Given the description of an element on the screen output the (x, y) to click on. 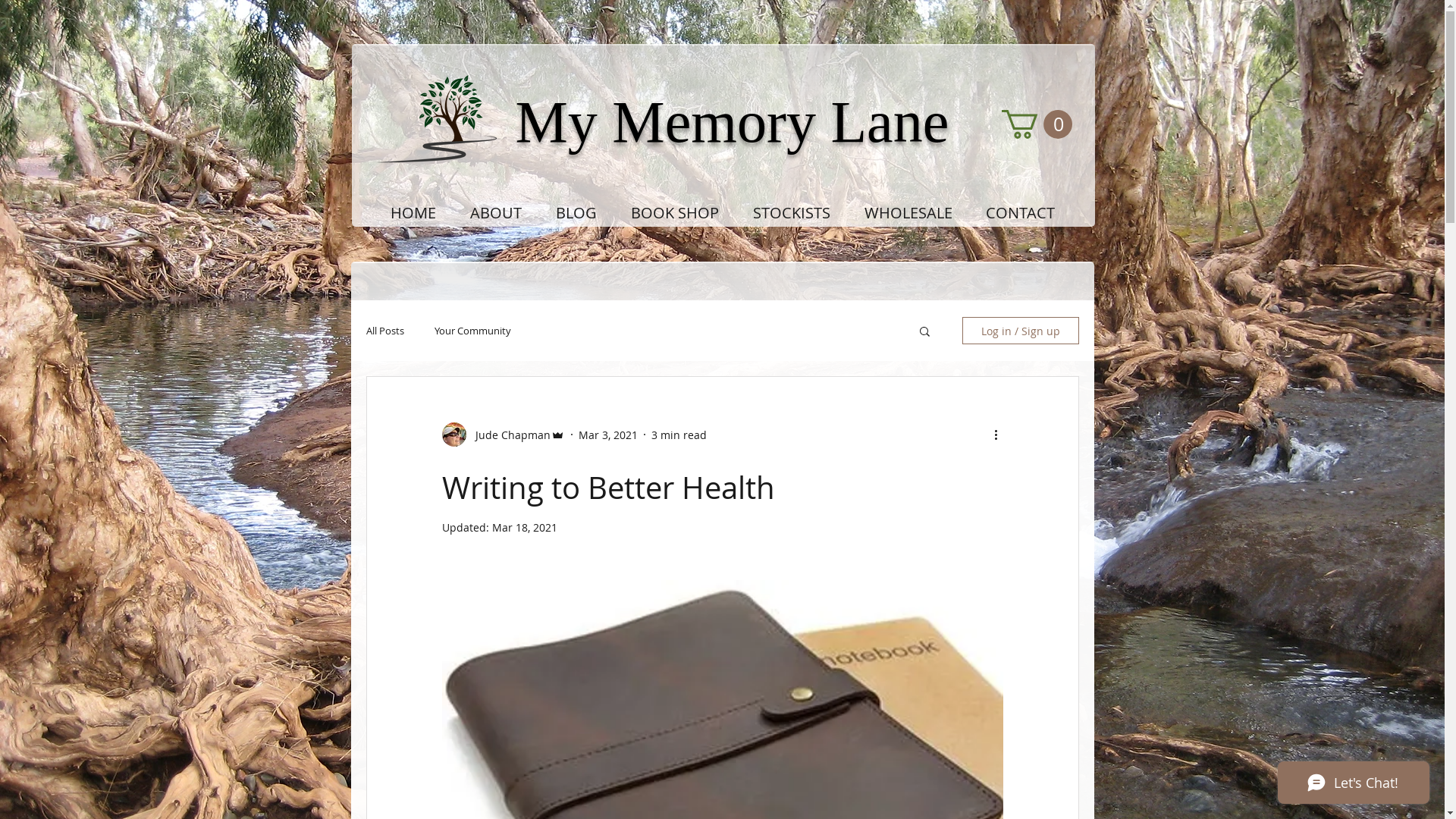
Log in / Sign up Element type: text (1019, 330)
WHOLESALE Element type: text (908, 212)
0 Element type: text (1036, 123)
ABOUT Element type: text (496, 212)
BLOG Element type: text (575, 212)
BOOK SHOP Element type: text (675, 212)
STOCKISTS Element type: text (791, 212)
Your Community Element type: text (471, 330)
HOME Element type: text (412, 212)
CONTACT Element type: text (1020, 212)
All Posts Element type: text (384, 330)
